Given the description of an element on the screen output the (x, y) to click on. 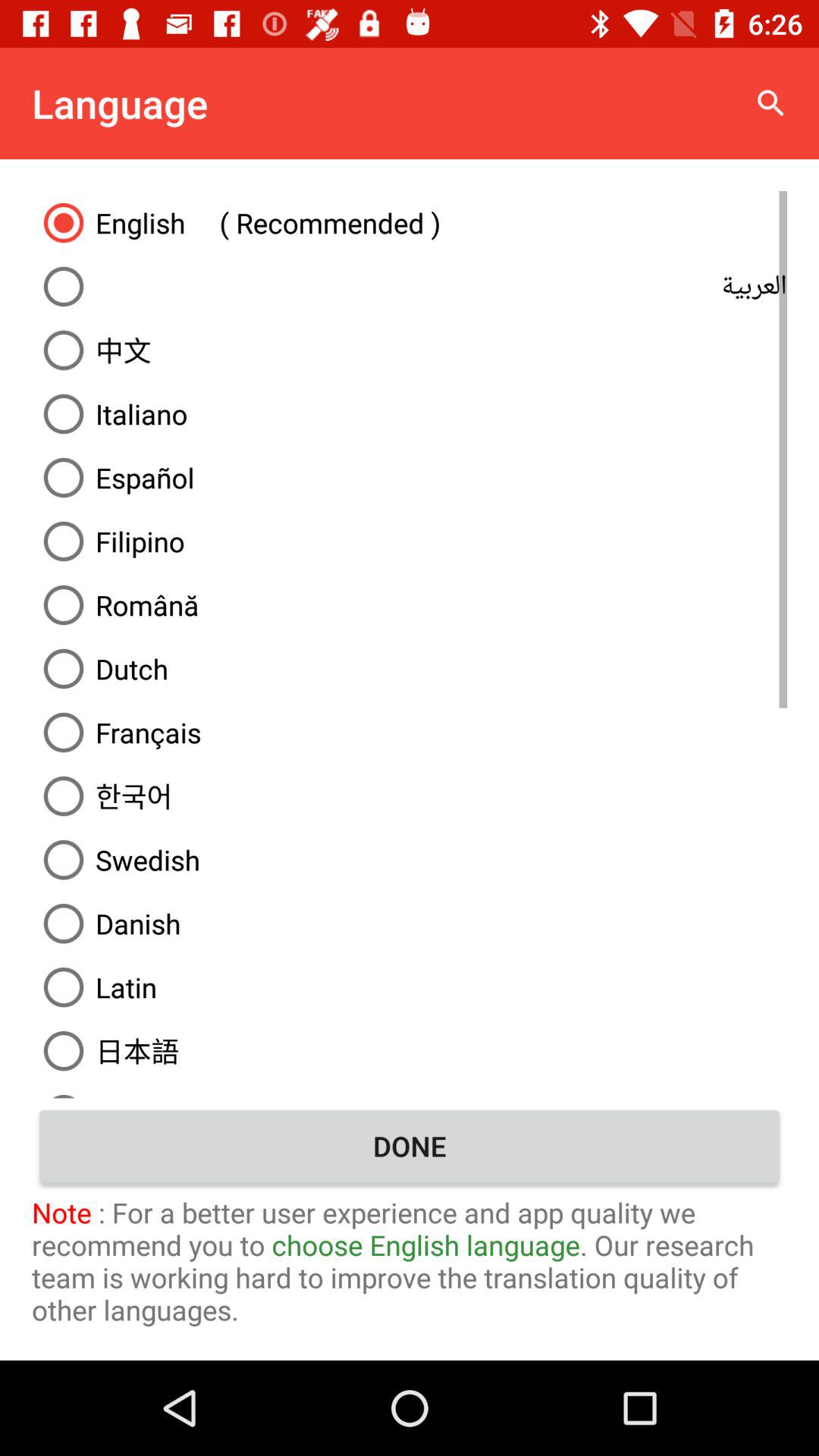
jump to danish item (409, 923)
